Given the description of an element on the screen output the (x, y) to click on. 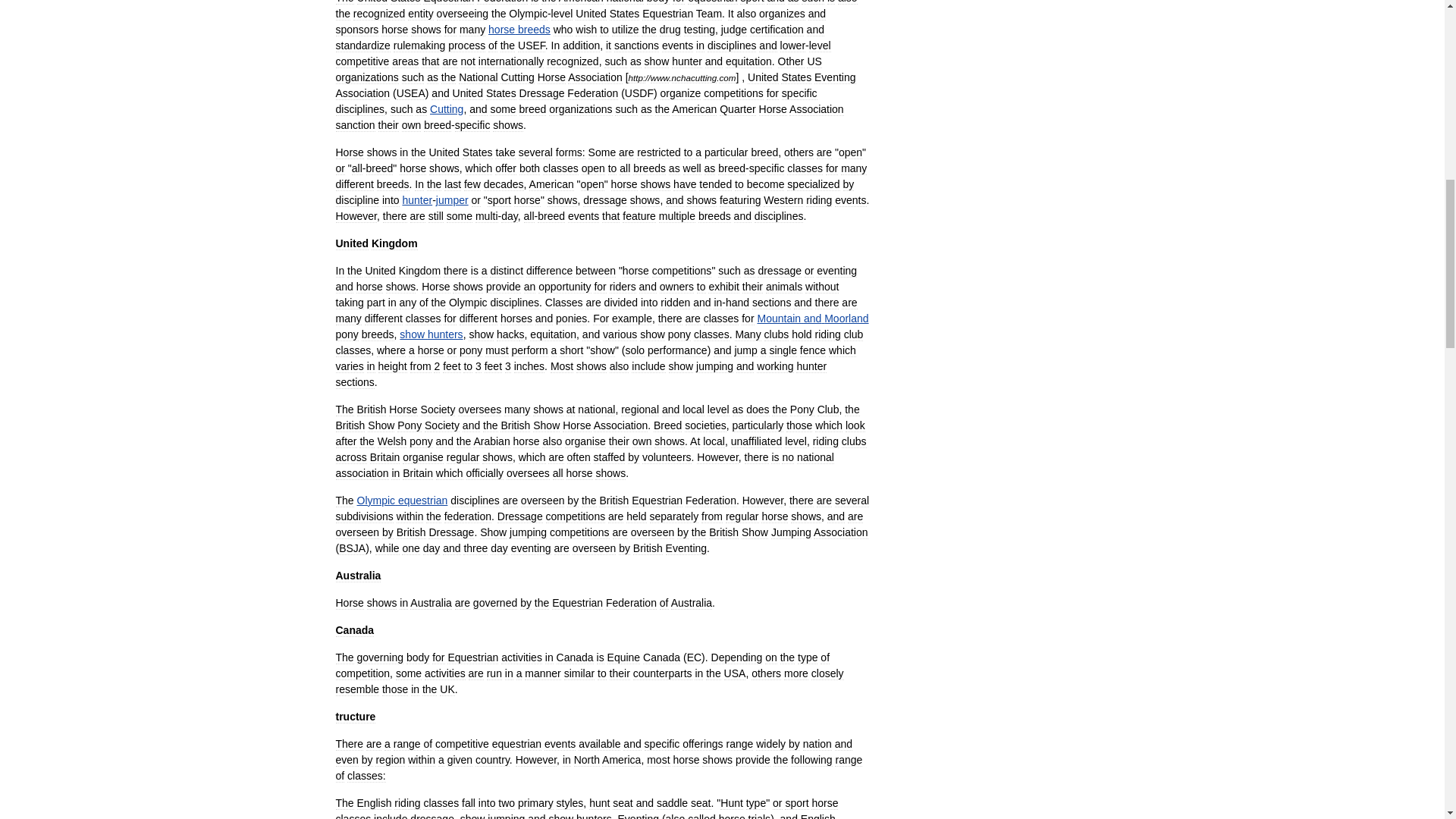
Cutting (446, 109)
Olympic equestrian (402, 500)
hunter (416, 200)
show hunters (430, 334)
jumper (451, 200)
horse breeds (518, 29)
Mountain and Moorland (812, 318)
